Given the description of an element on the screen output the (x, y) to click on. 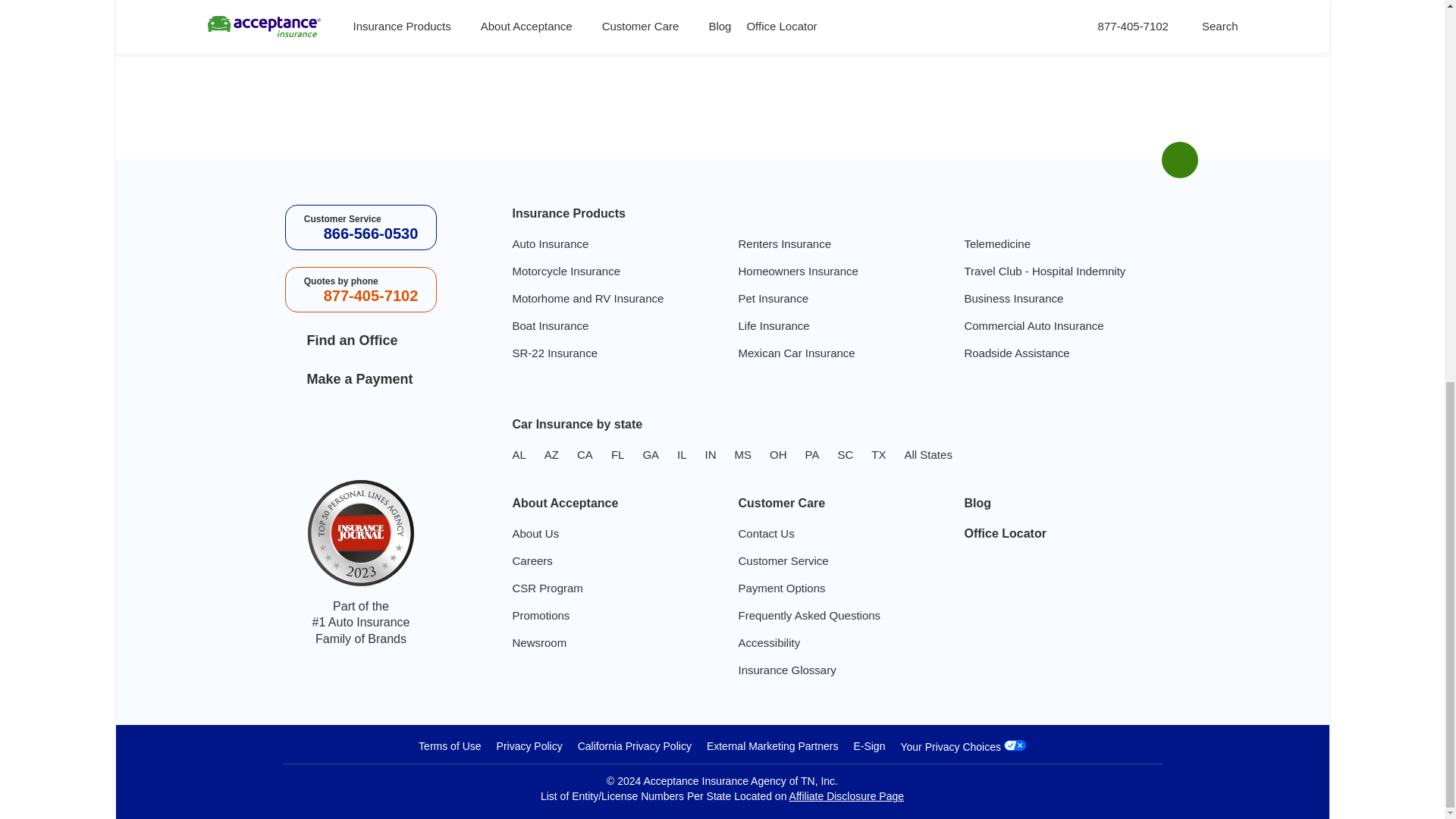
instagram (389, 432)
linkedin (357, 432)
facebook (293, 432)
glassdoor (421, 432)
X (325, 432)
Go to top (1179, 160)
